Given the description of an element on the screen output the (x, y) to click on. 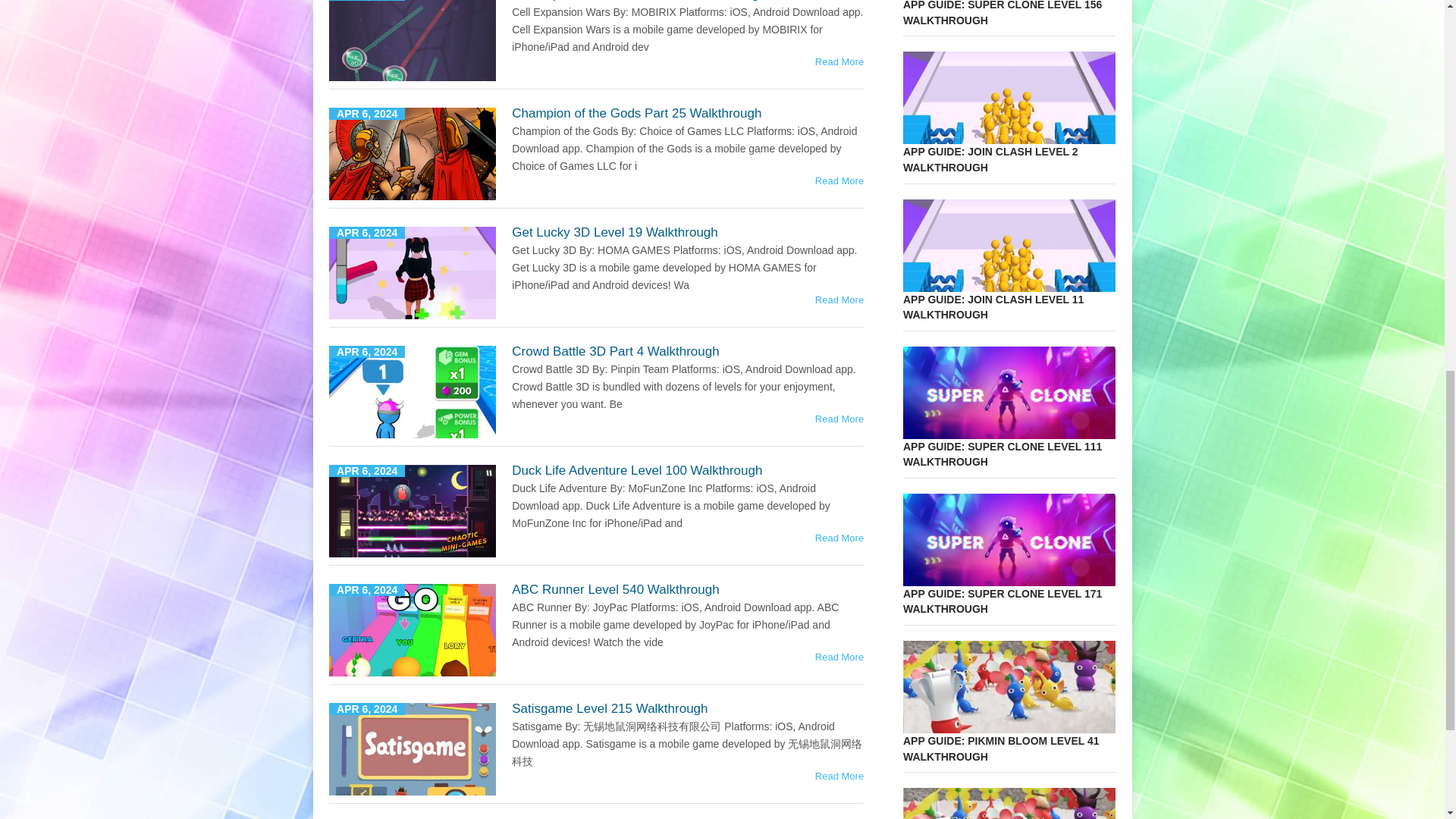
APR 6, 2024 (412, 511)
cell-expansion-wars-level-768-walkthrough (412, 40)
get-lucky-3d-level-19-walkthrough (412, 272)
APR 6, 2024 (412, 748)
ABC Runner Level 540 Walkthrough (615, 589)
Read More (839, 299)
APR 6, 2024 (412, 272)
Read More (839, 61)
champion-of-the-gods-part-25-walkthrough (412, 153)
Cell Expansion Wars Level 768 Walkthrough (839, 61)
Read More (839, 776)
Get Lucky 3D Level 19 Walkthrough (614, 232)
Champion of the Gods Part 25 Walkthrough (839, 180)
APR 6, 2024 (412, 629)
